Given the description of an element on the screen output the (x, y) to click on. 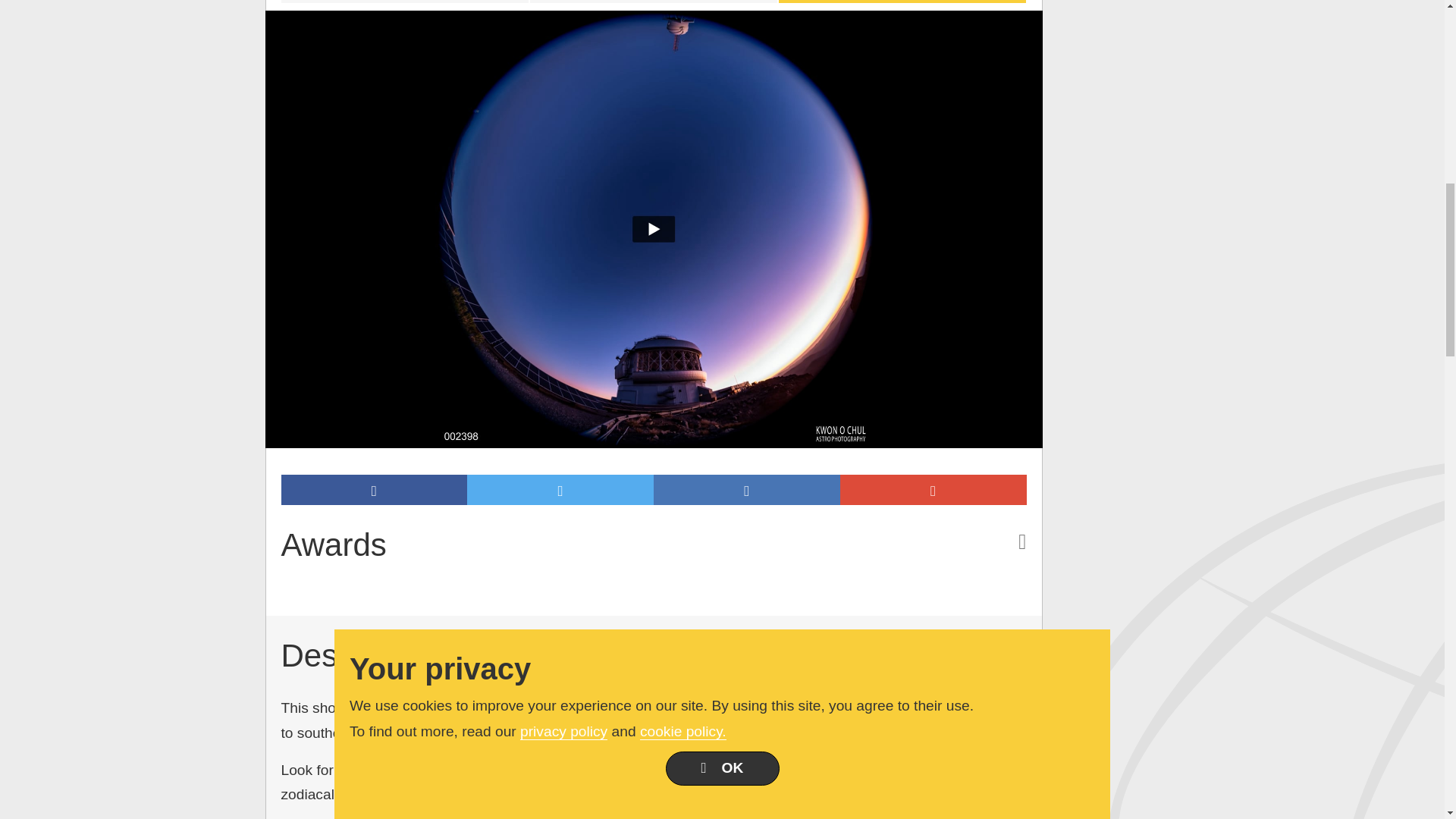
Full preview (902, 1)
The video is missing (653, 1)
The video is missing (404, 1)
